Given the description of an element on the screen output the (x, y) to click on. 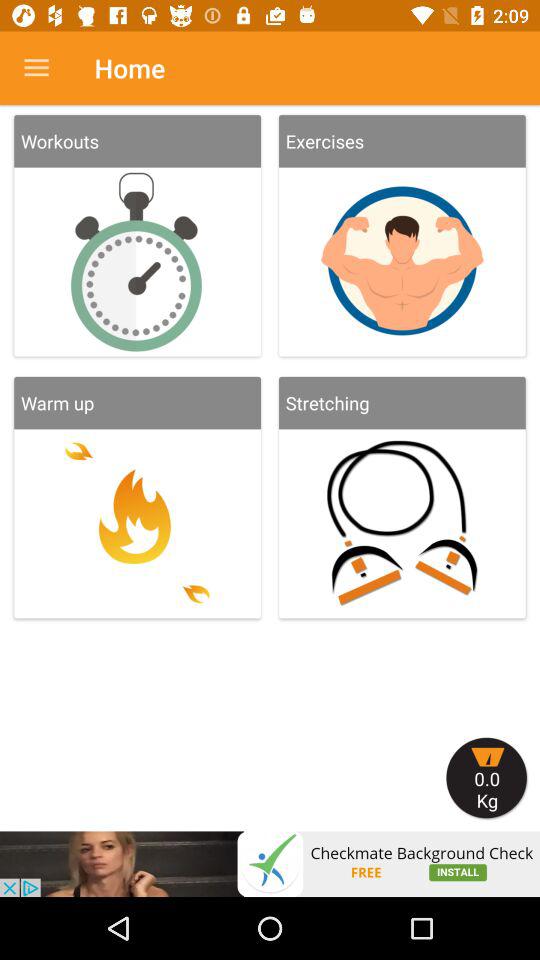
kilo gram (487, 778)
